Given the description of an element on the screen output the (x, y) to click on. 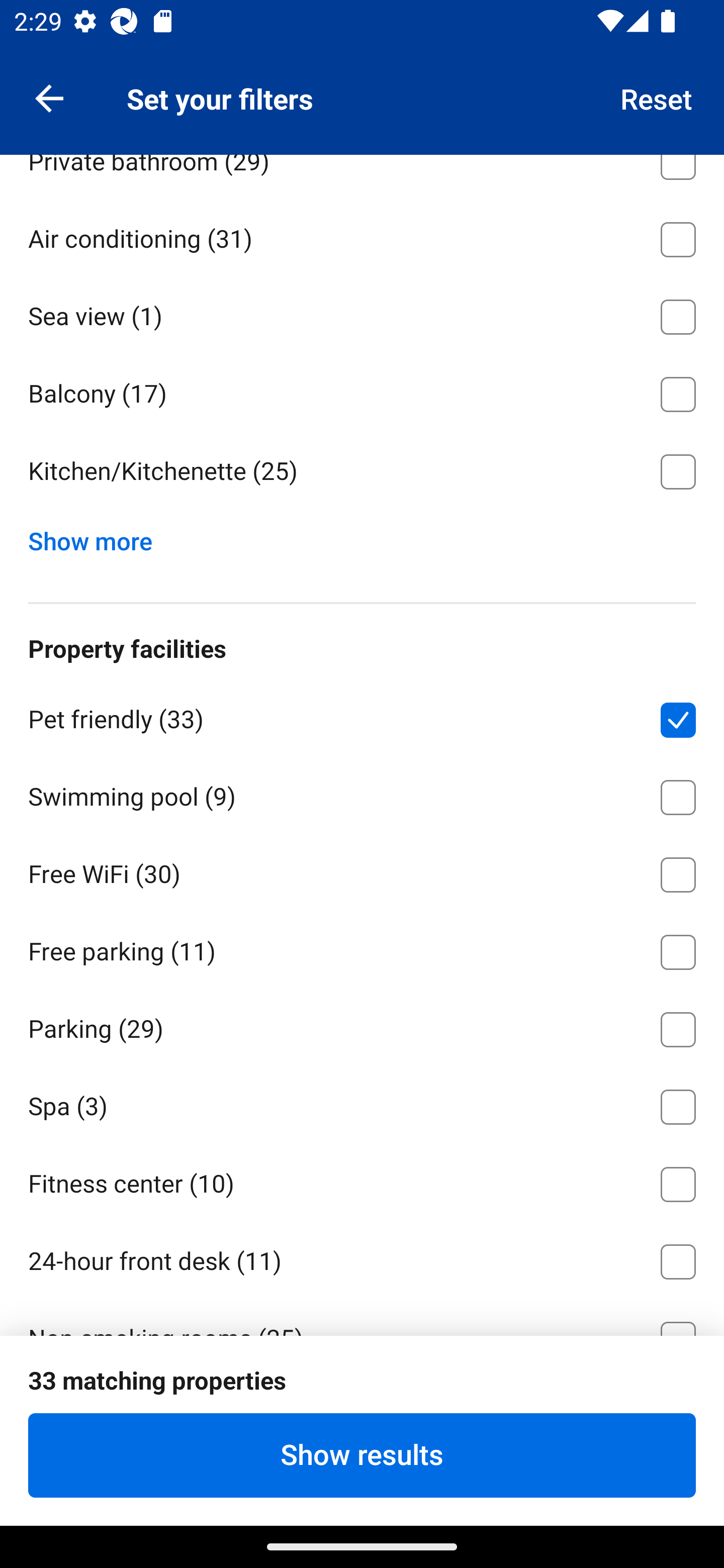
Navigate up (49, 97)
Reset (656, 97)
Private bathroom ⁦(29) (361, 176)
Air conditioning ⁦(31) (361, 235)
Sea view ⁦(1) (361, 313)
Balcony ⁦(17) (361, 390)
Kitchen/Kitchenette ⁦(25) (361, 471)
Show more (97, 536)
Pet friendly ⁦(33) (361, 716)
Swimming pool ⁦(9) (361, 793)
Free WiFi ⁦(30) (361, 870)
Free parking ⁦(11) (361, 948)
Parking ⁦(29) (361, 1025)
Spa ⁦(3) (361, 1103)
Fitness center ⁦(10) (361, 1181)
24-hour front desk ⁦(11) (361, 1257)
Show results (361, 1454)
